Given the description of an element on the screen output the (x, y) to click on. 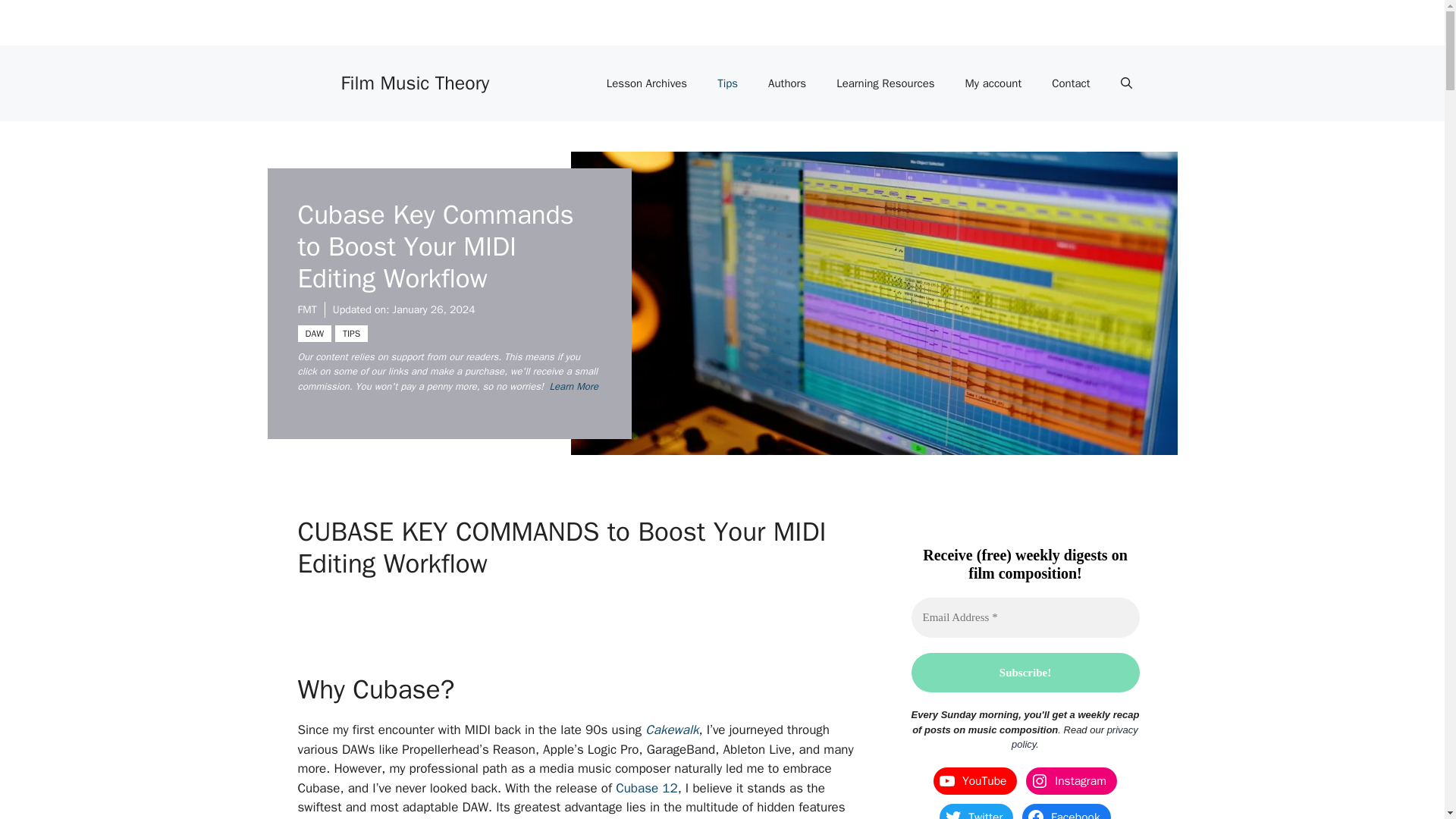
Cakewalk (671, 729)
Email Address (1025, 617)
FMT (306, 309)
My account (993, 83)
Authors (786, 83)
Learning Resources (885, 83)
Tips (726, 83)
Contact (1070, 83)
DAW (313, 332)
Learn More (574, 385)
